Given the description of an element on the screen output the (x, y) to click on. 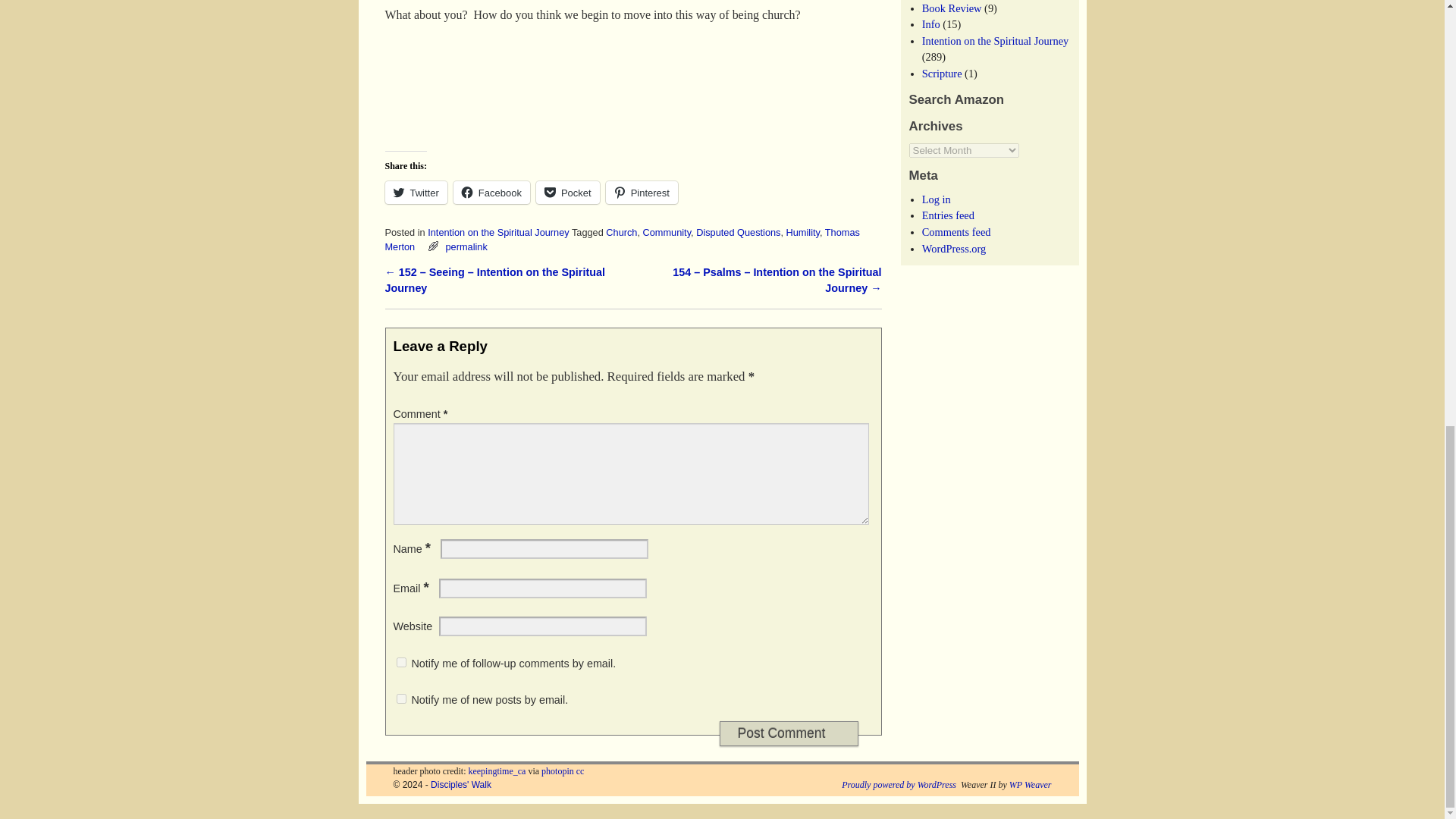
Click to share on Pocket (567, 191)
subscribe (401, 698)
Disputed Questions (737, 232)
Post Comment (788, 733)
Thomas Merton (622, 239)
Humility (802, 232)
Intention on the Spiritual Journey (498, 232)
Pocket (567, 191)
Click to share on Facebook (490, 191)
Church (621, 232)
Disciples' Walk (461, 784)
Click to share on Twitter (415, 191)
Pinterest (641, 191)
Twitter (415, 191)
Click to share on Pinterest (641, 191)
